Given the description of an element on the screen output the (x, y) to click on. 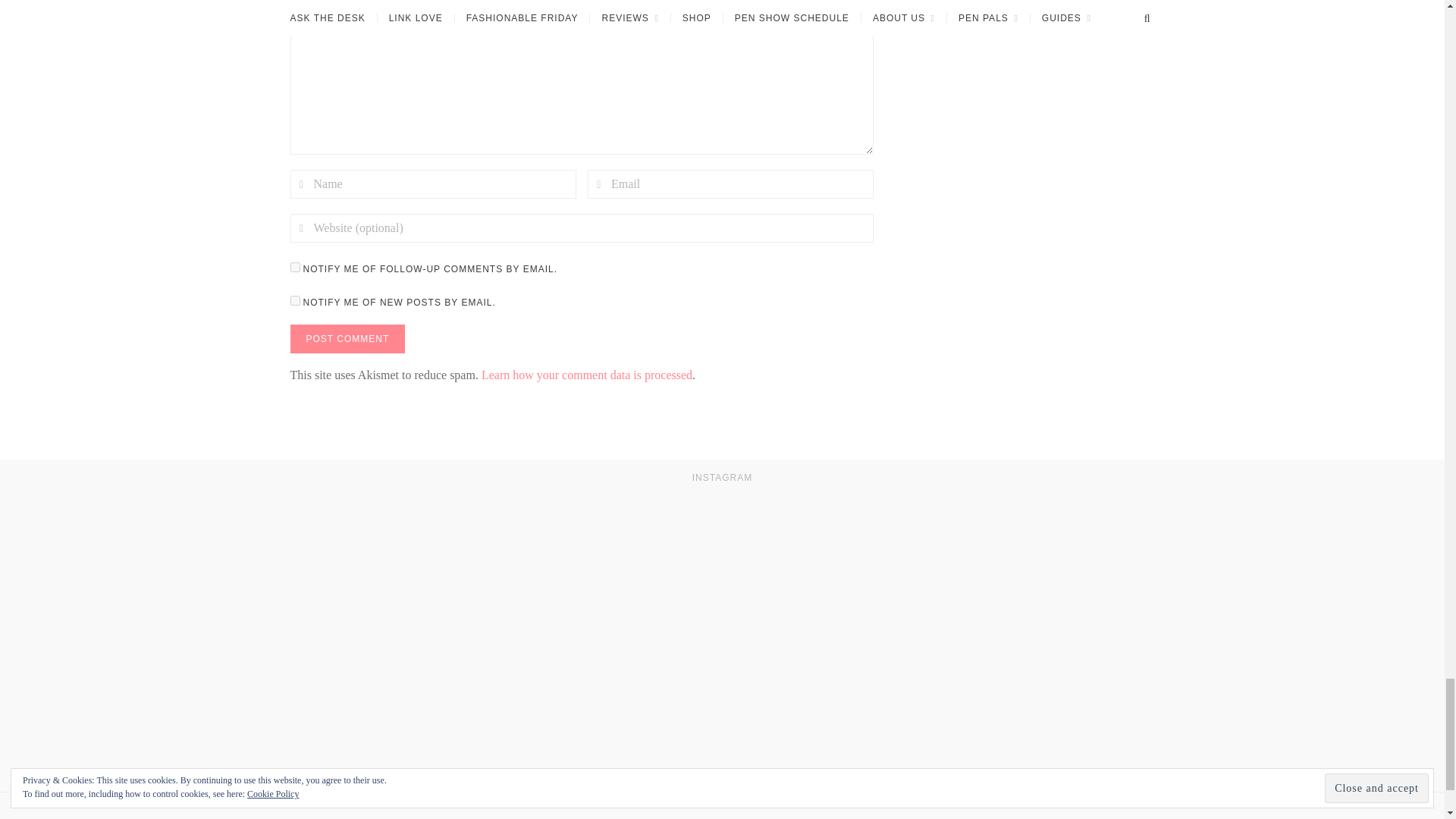
subscribe (294, 266)
Post Comment (346, 338)
subscribe (294, 300)
